Given the description of an element on the screen output the (x, y) to click on. 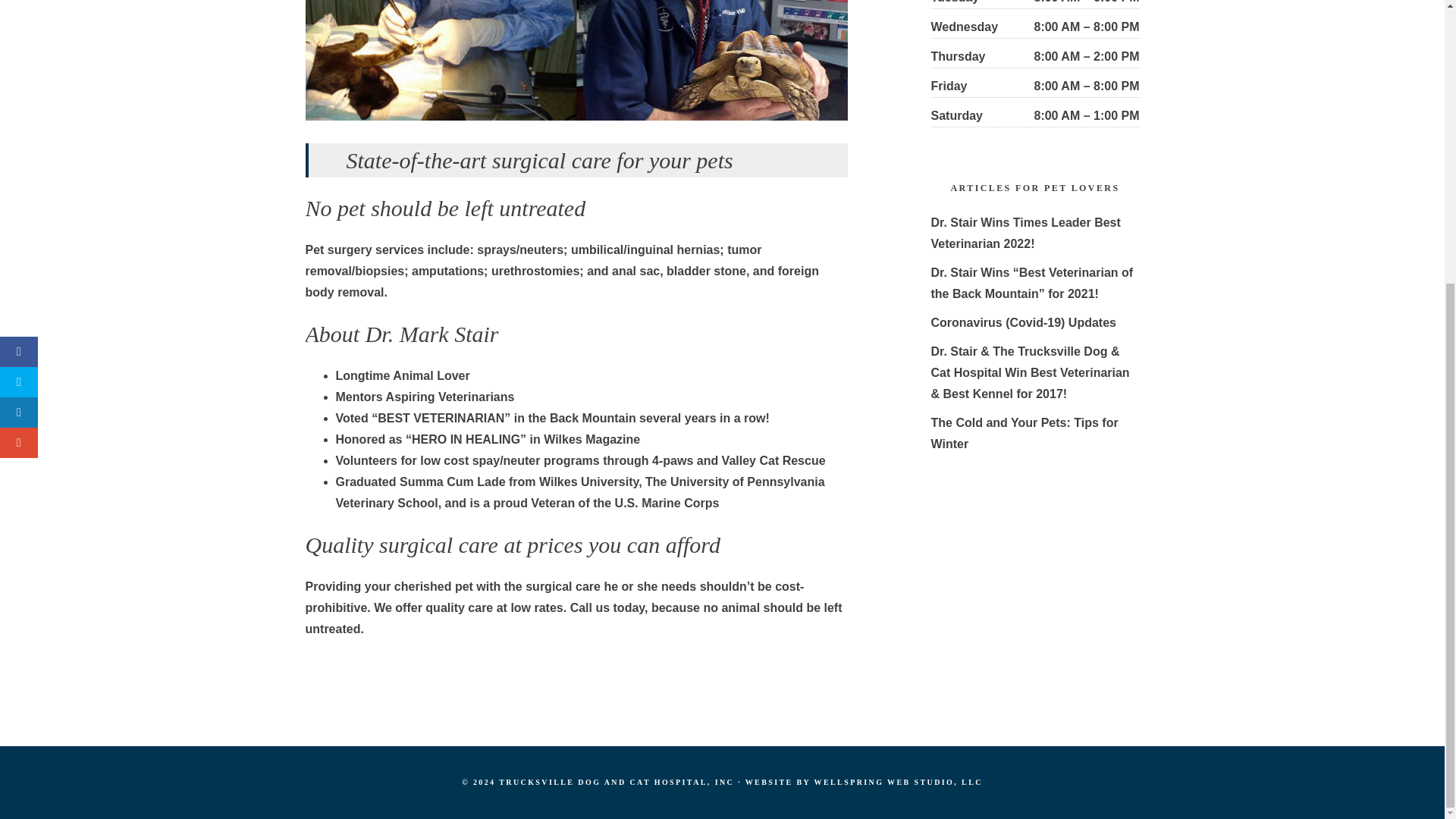
The Cold and Your Pets: Tips for Winter (1024, 433)
WEBSITE BY WELLSPRING WEB STUDIO, LLC (863, 782)
Dr. Stair Wins Times Leader Best Veterinarian 2022! (1026, 233)
